Given the description of an element on the screen output the (x, y) to click on. 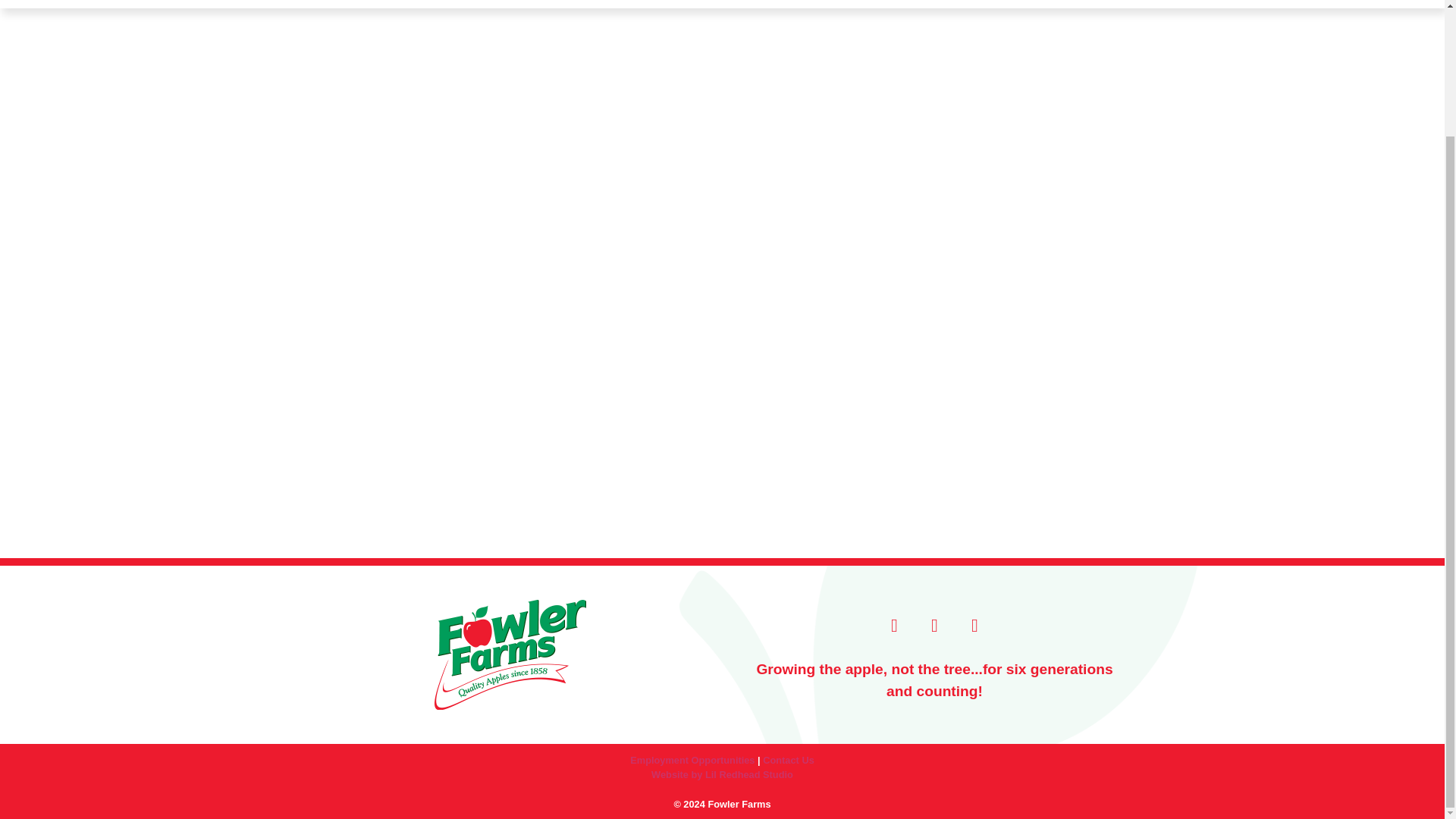
FowlerFarms-Logo-Resized (509, 654)
Website by Lil Redhead Studio (721, 774)
Employment Opportunities (692, 759)
Contact Us (787, 759)
